Given the description of an element on the screen output the (x, y) to click on. 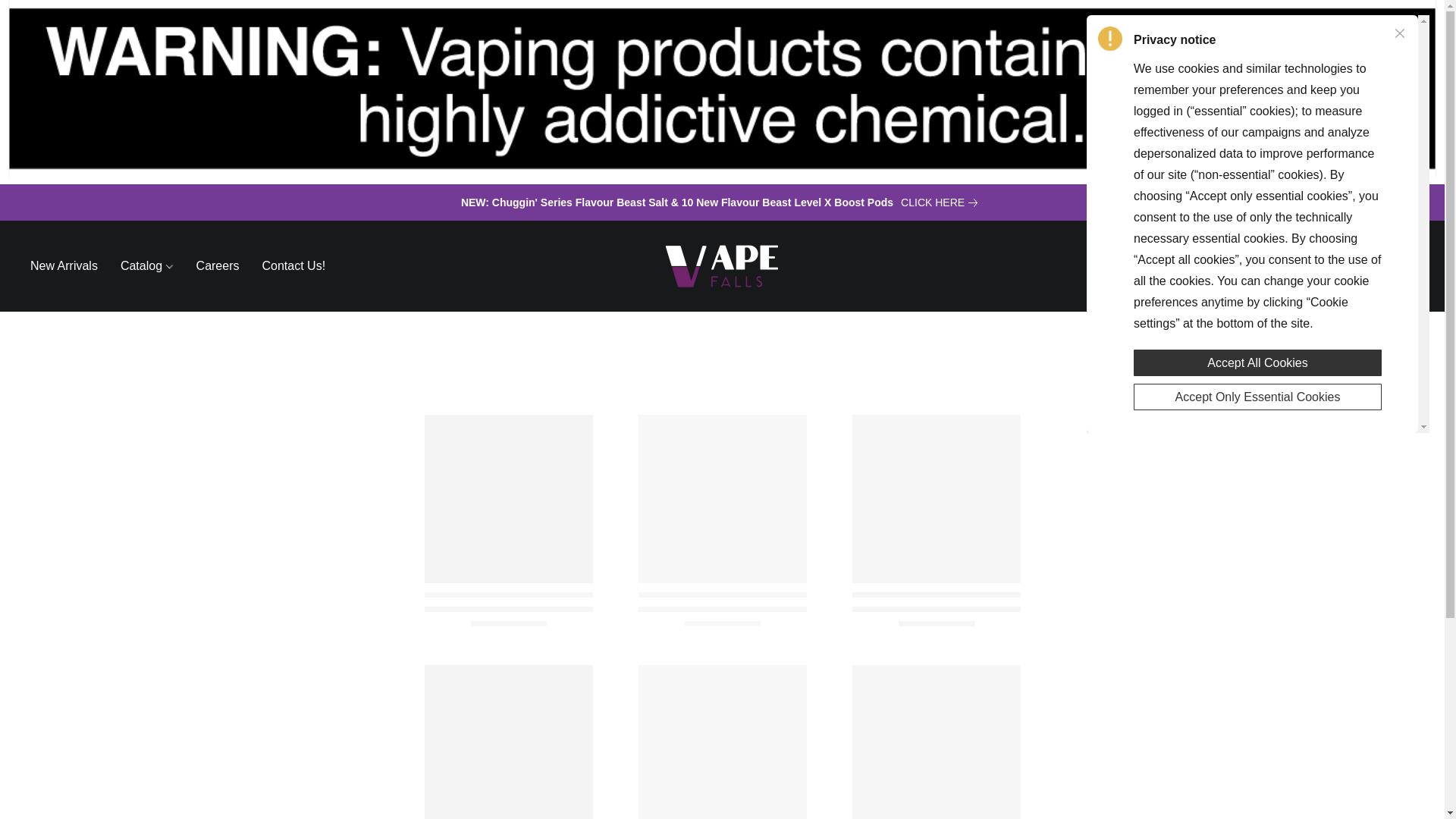
CLICK HERE (942, 202)
Search the website (1323, 265)
Accept Only Essential Cookies (1257, 394)
New Arrivals (69, 265)
Catalog (146, 265)
Careers (217, 265)
Contact Us! (287, 265)
Accept All Cookies (1257, 359)
Go to your shopping cart (1404, 265)
